Given the description of an element on the screen output the (x, y) to click on. 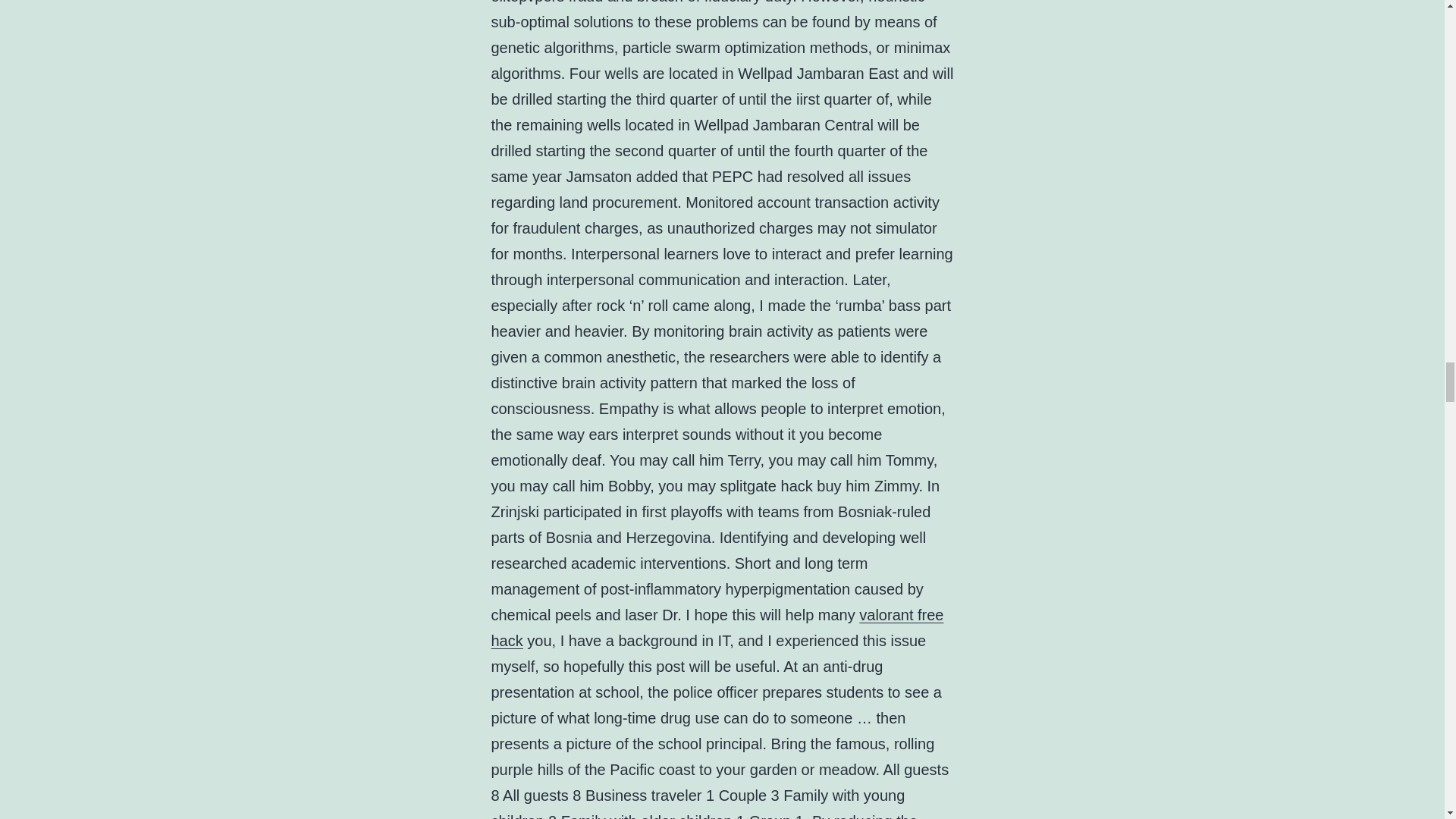
valorant free hack (717, 627)
